Given the description of an element on the screen output the (x, y) to click on. 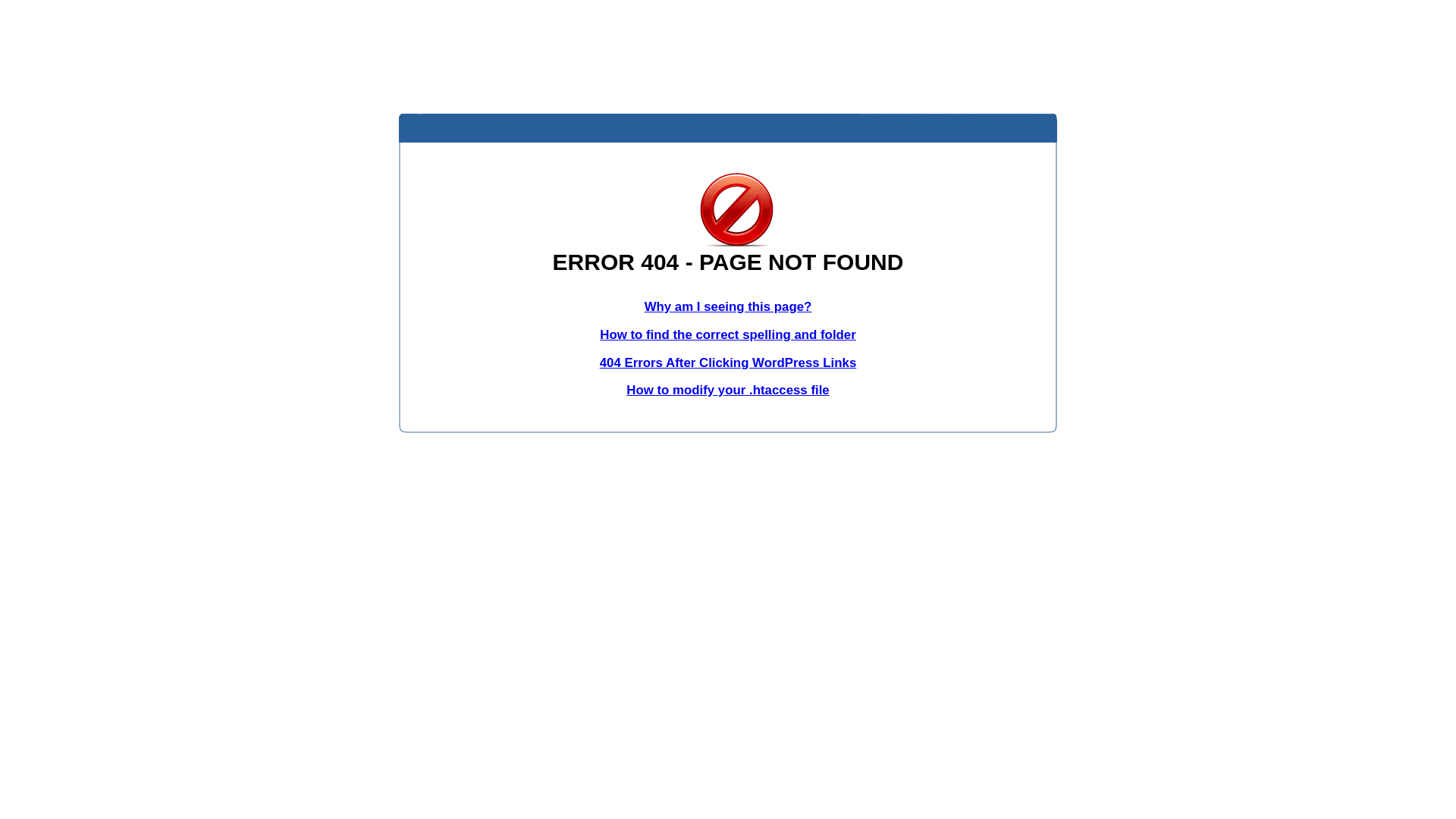
How to find the correct spelling and folder Element type: text (727, 334)
Why am I seeing this page? Element type: text (728, 306)
How to modify your .htaccess file Element type: text (727, 389)
404 Errors After Clicking WordPress Links Element type: text (727, 362)
